Given the description of an element on the screen output the (x, y) to click on. 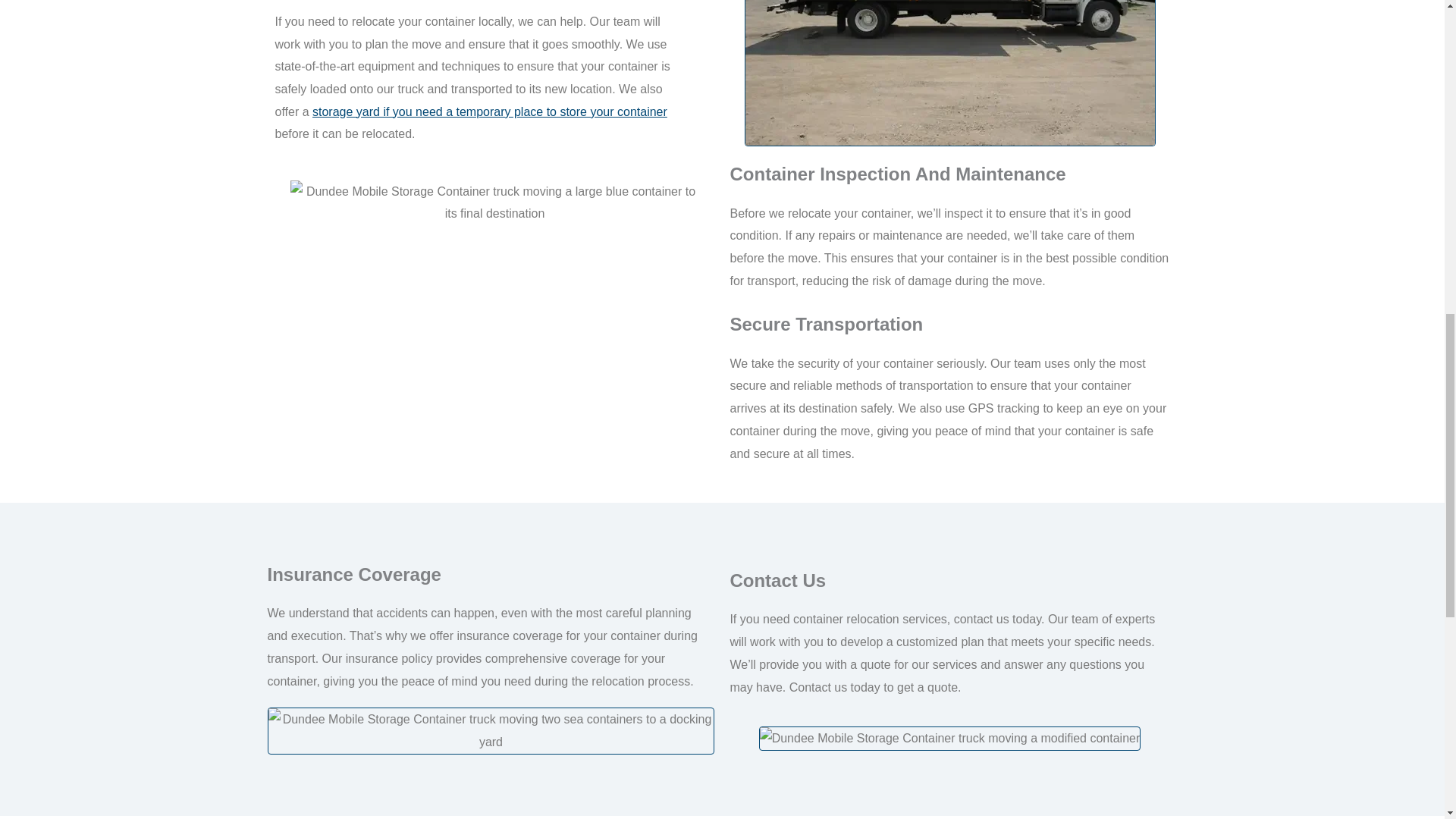
Dundee Mobile Storage Container truck (490, 730)
Dundee Mobile Storage Container truck (949, 738)
relocating a container (950, 73)
